Given the description of an element on the screen output the (x, y) to click on. 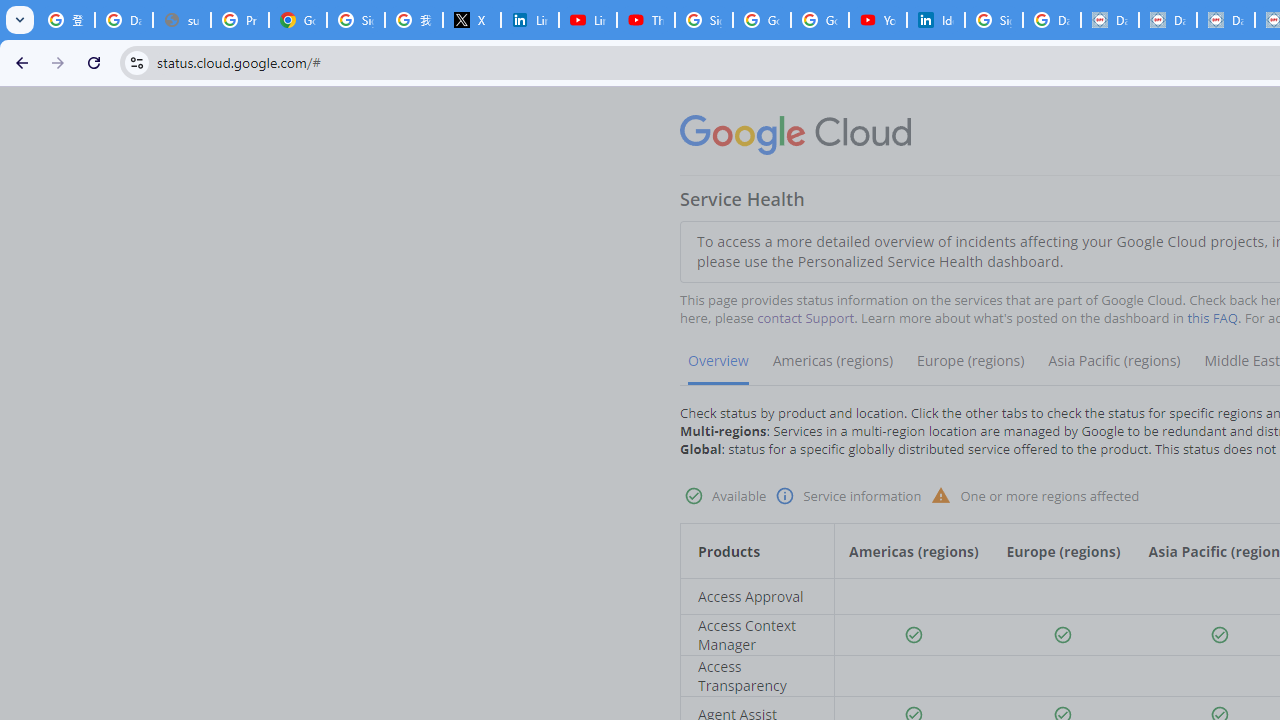
Available status (1220, 635)
Americas (regions) (832, 368)
Data Privacy Framework (1167, 20)
Overview (718, 368)
Asia Pacific (regions) (1114, 368)
Europe (regions) (970, 368)
